Given the description of an element on the screen output the (x, y) to click on. 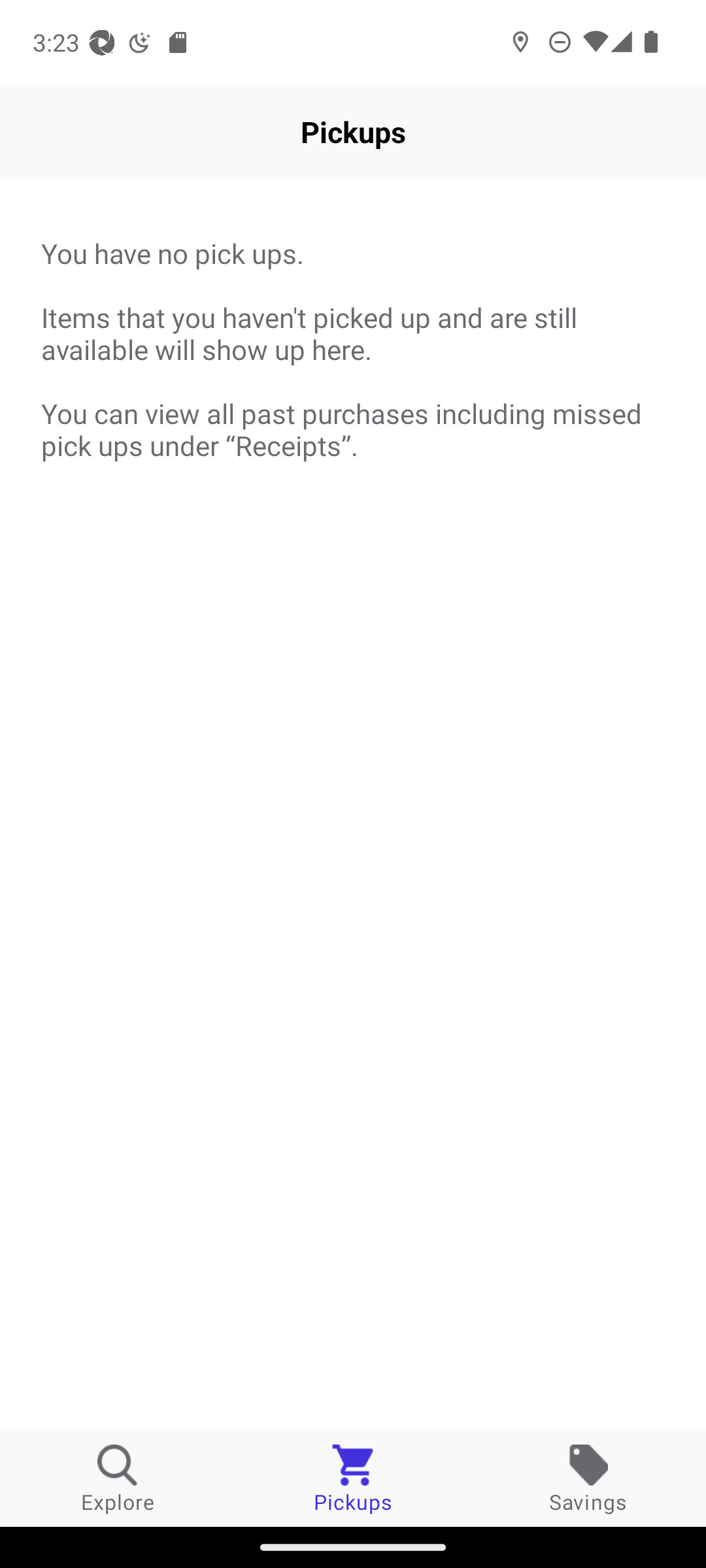
Explore (117, 1478)
Savings (588, 1478)
